Given the description of an element on the screen output the (x, y) to click on. 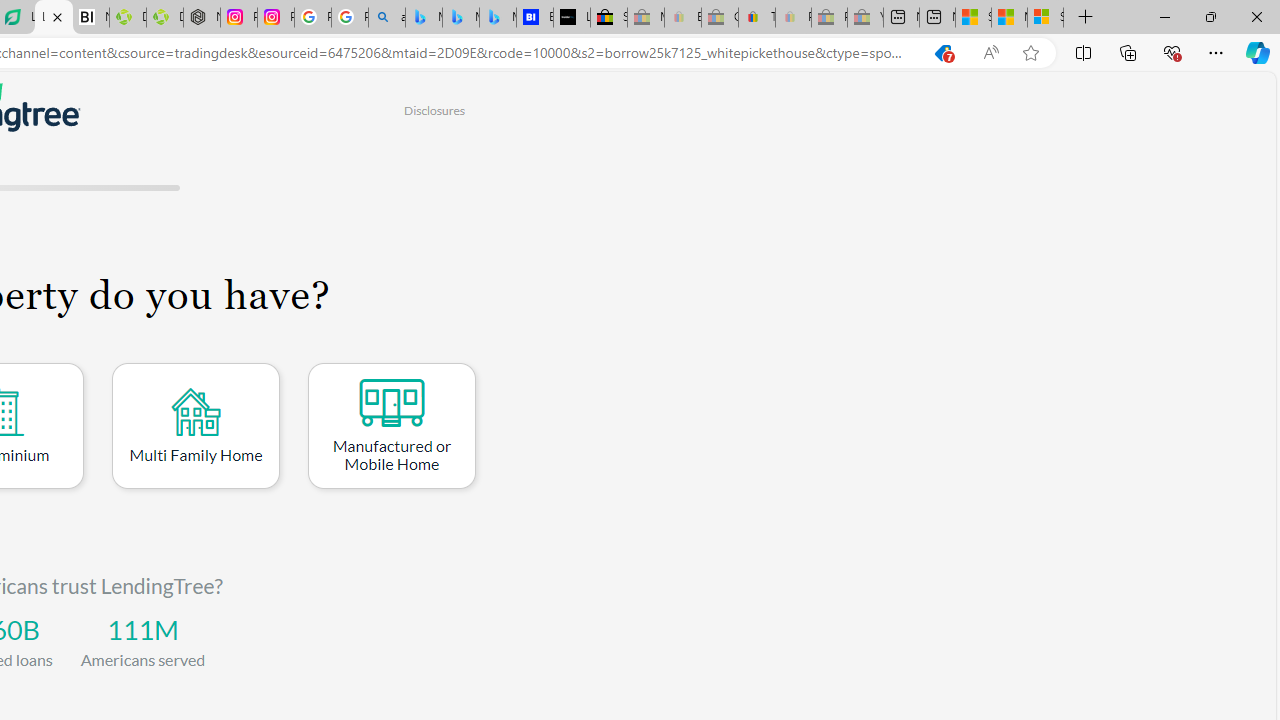
Nvidia va a poner a prueba la paciencia de los inversores (90, 17)
Microsoft Bing Travel - Shangri-La Hotel Bangkok (497, 17)
Microsoft Bing Travel - Flights from Hong Kong to Bangkok (423, 17)
This site has coupons! Shopping in Microsoft Edge, 7 (943, 53)
Threats and offensive language policy | eBay (756, 17)
Shanghai, China hourly forecast | Microsoft Weather (973, 17)
Nordace - Nordace Edin Collection (202, 17)
